Given the description of an element on the screen output the (x, y) to click on. 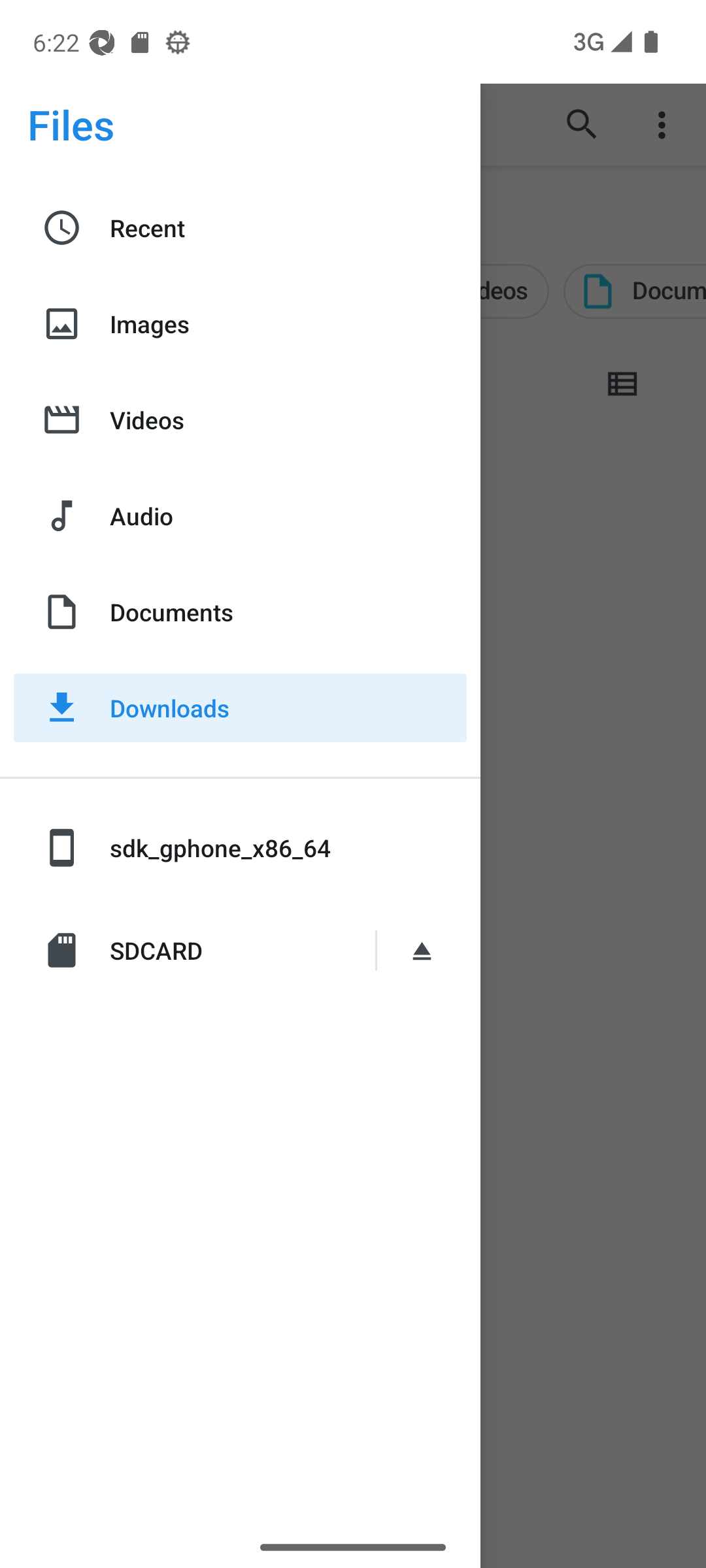
Show roots (48, 124)
Recent (240, 227)
Images (240, 323)
Videos (240, 419)
Audio (240, 515)
Documents (240, 612)
Downloads (240, 707)
sdk_gphone_x86_64 (240, 847)
SDCARD Eject (240, 950)
Eject (425, 949)
